Given the description of an element on the screen output the (x, y) to click on. 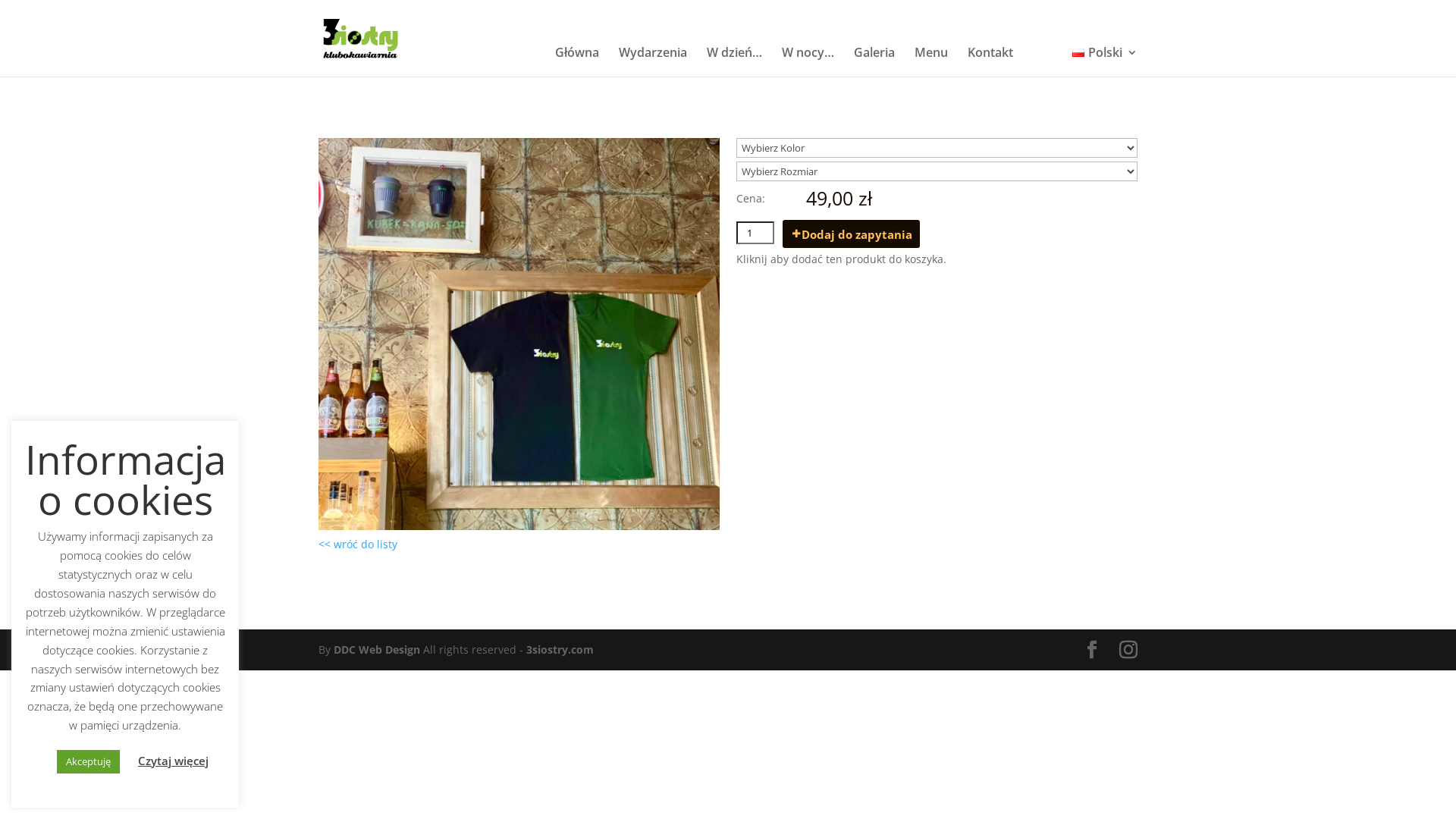
DDC Web Design Element type: text (378, 649)
Galeria Element type: text (873, 61)
Menu Element type: text (930, 61)
Dodaj do zapytania Element type: text (850, 233)
Wydarzenia Element type: text (652, 61)
Kontakt Element type: text (990, 61)
Polski Element type: text (1104, 61)
